Given the description of an element on the screen output the (x, y) to click on. 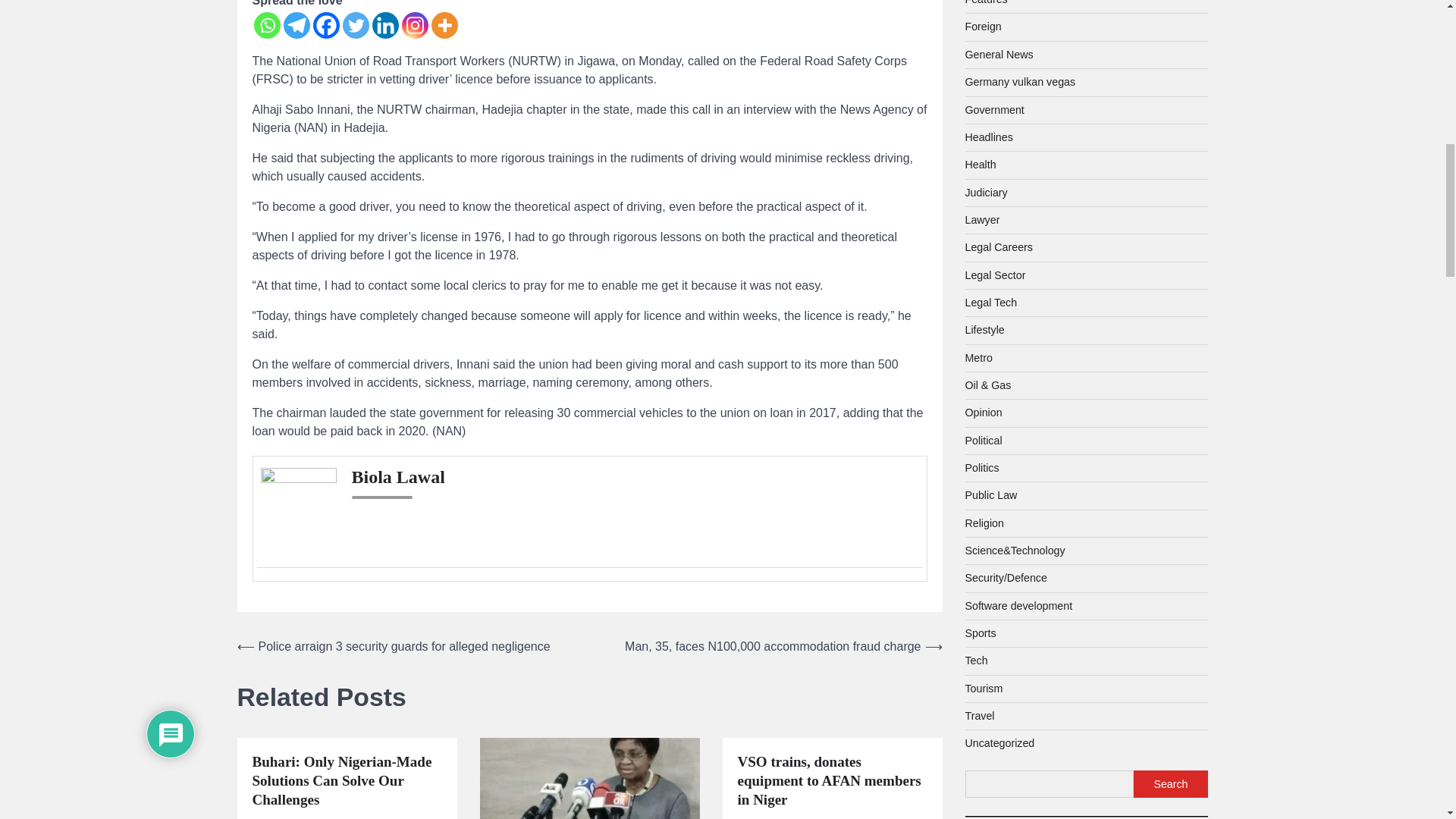
Linkedin (384, 25)
Whatsapp (266, 25)
Twitter (355, 25)
More (443, 25)
Telegram (296, 25)
Instagram (414, 25)
Facebook (326, 25)
